Given the description of an element on the screen output the (x, y) to click on. 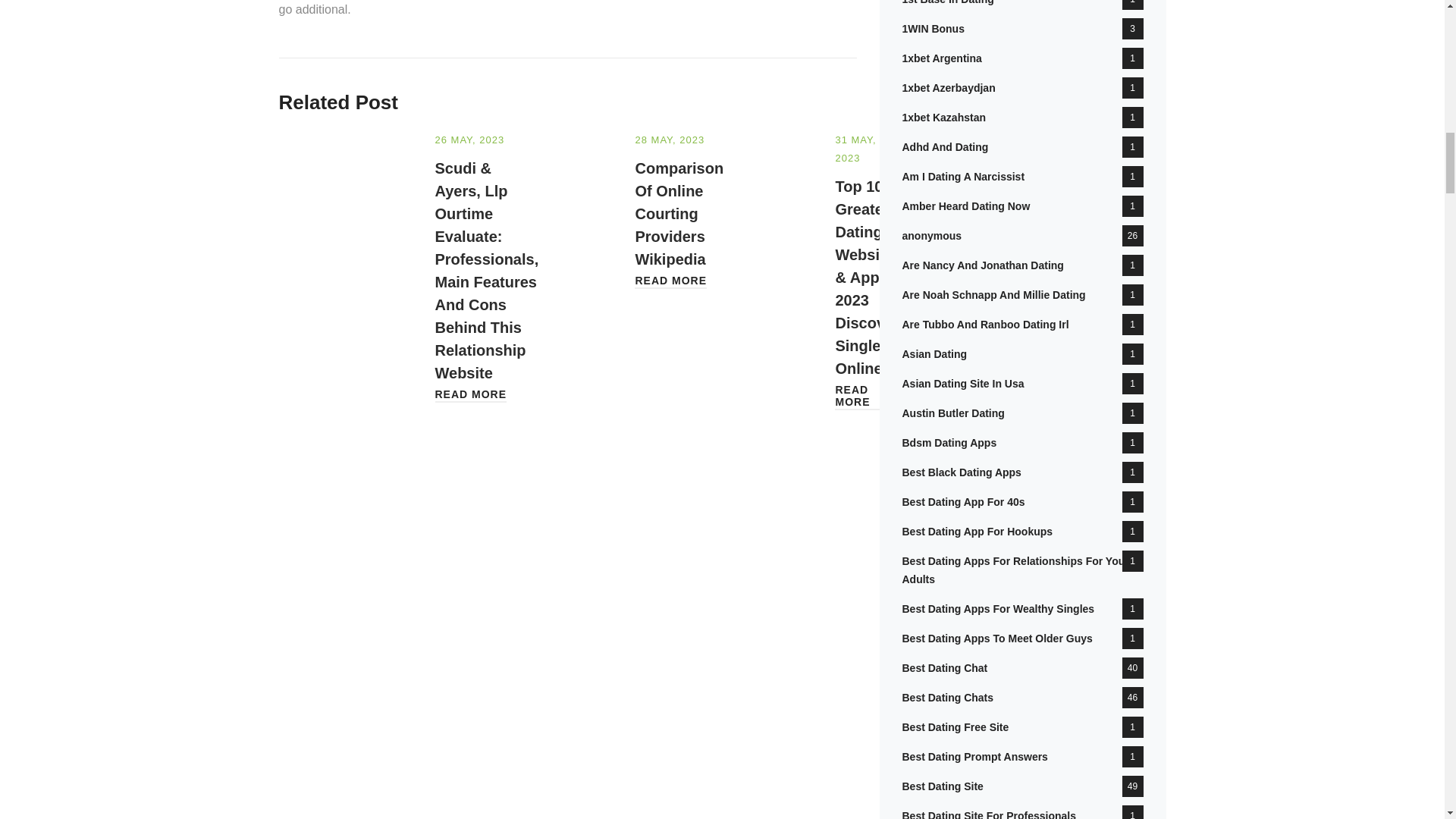
28 MAY, 2023 (669, 139)
READ MORE (670, 280)
26 MAY, 2023 (470, 139)
READ MORE (470, 394)
READ MORE (867, 395)
31 MAY, 2023 (855, 148)
